Given the description of an element on the screen output the (x, y) to click on. 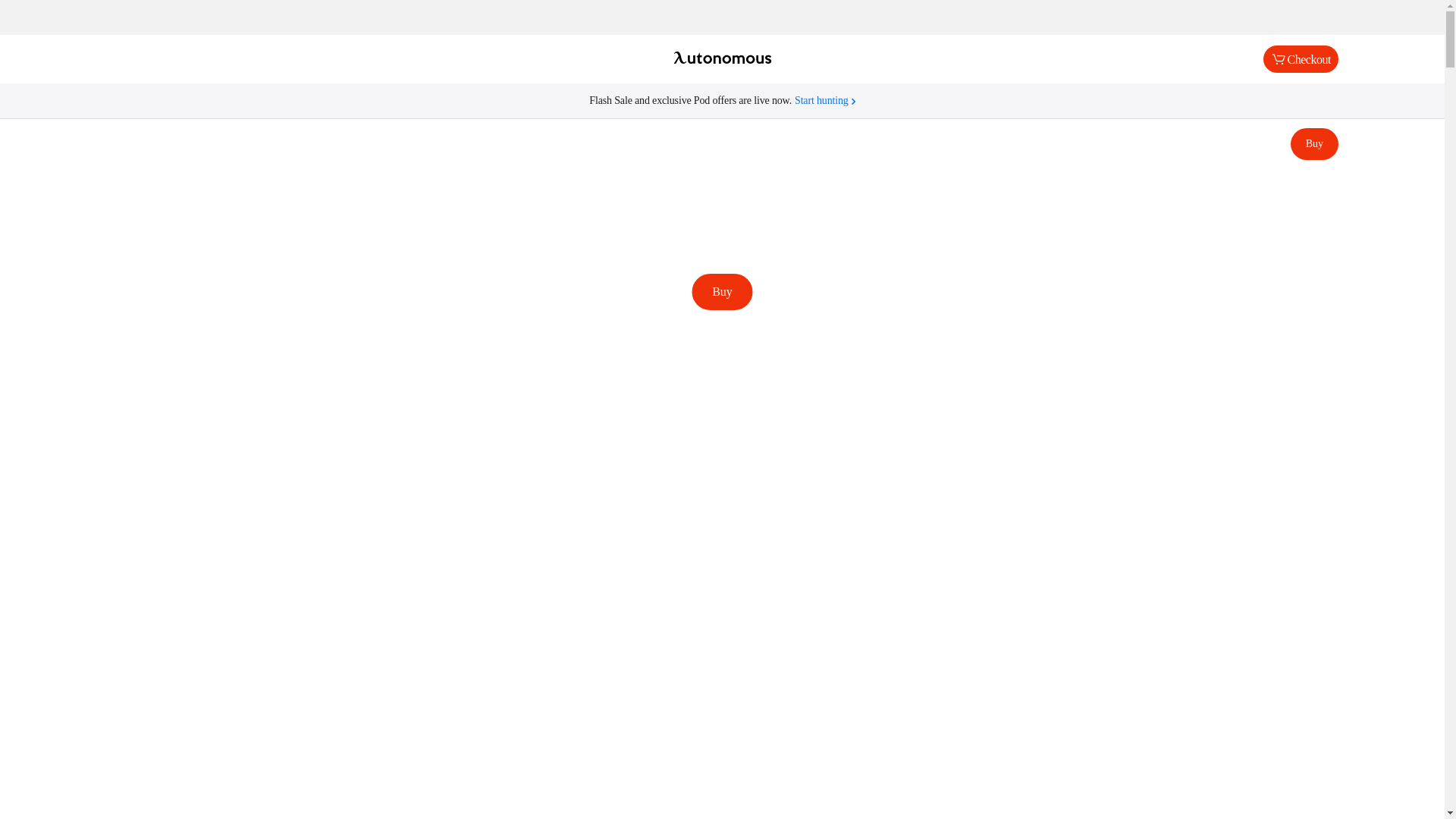
Click go to homepage (721, 58)
Buy (721, 291)
Autonomous (721, 58)
Buy (1314, 142)
